Given the description of an element on the screen output the (x, y) to click on. 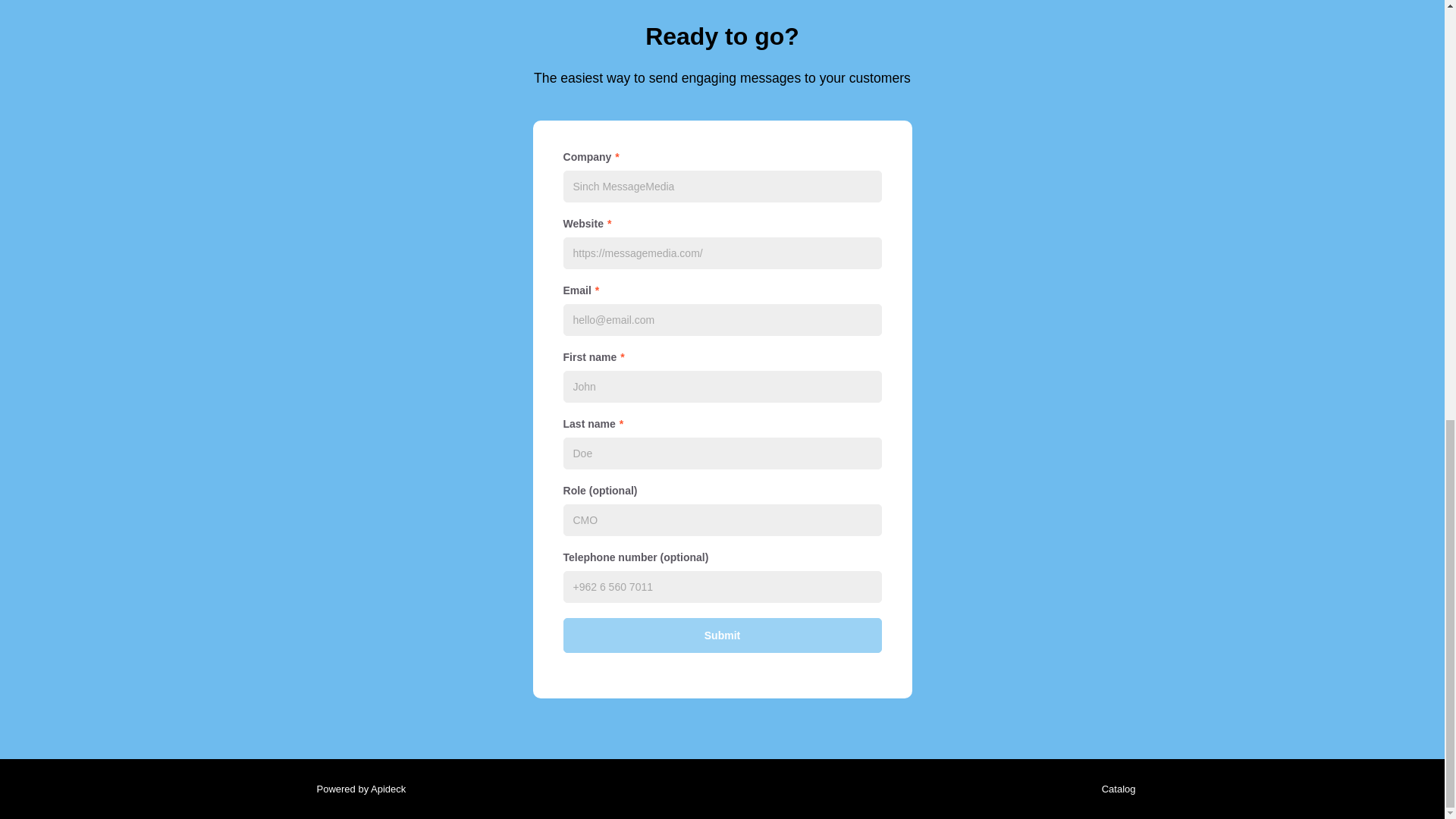
Powered by Apideck (356, 789)
Catalog (1115, 789)
Submit (721, 635)
